Given the description of an element on the screen output the (x, y) to click on. 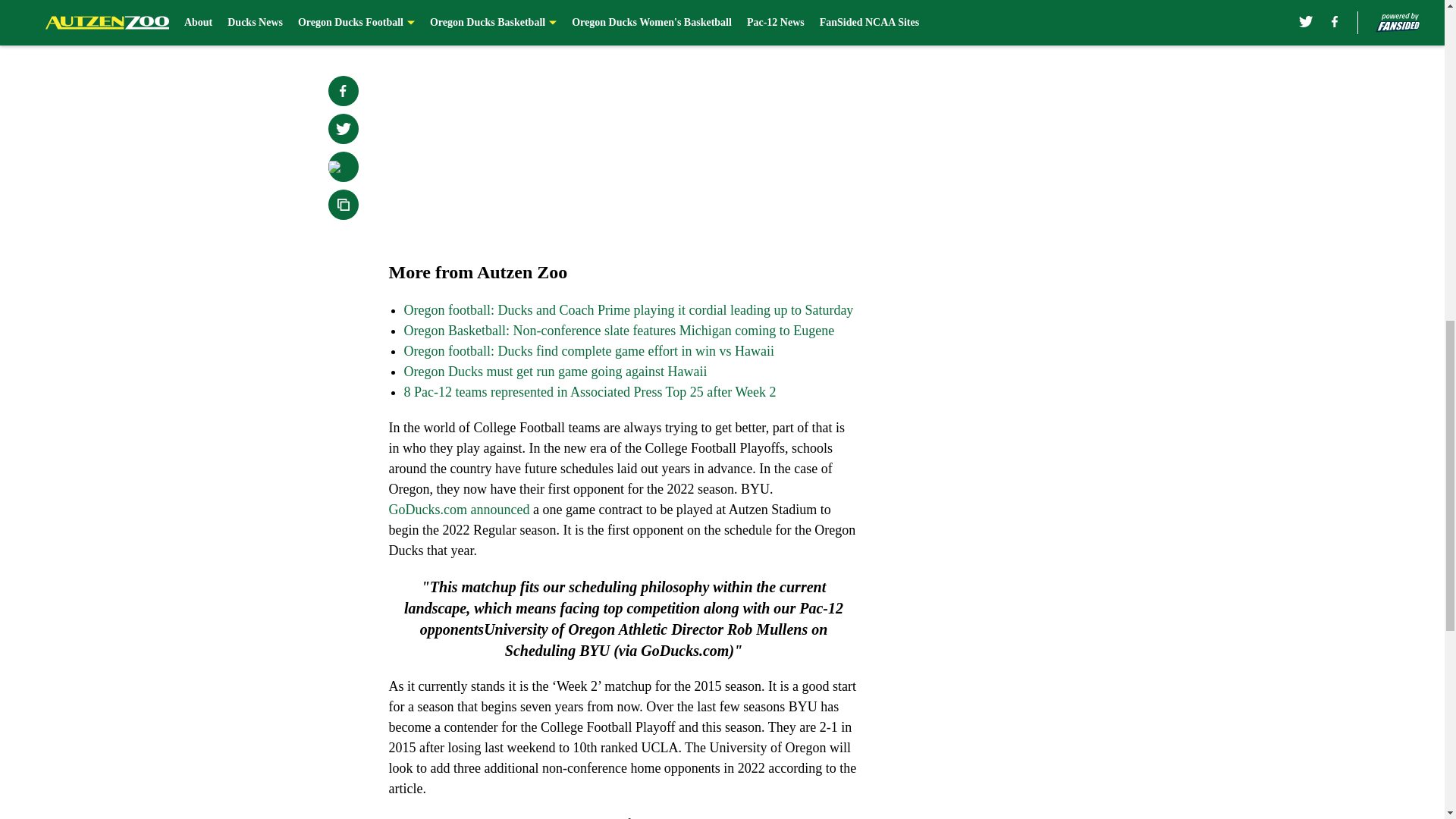
Oregon Ducks must get run game going against Hawaii (554, 371)
GoDucks.com announced (458, 509)
